Given the description of an element on the screen output the (x, y) to click on. 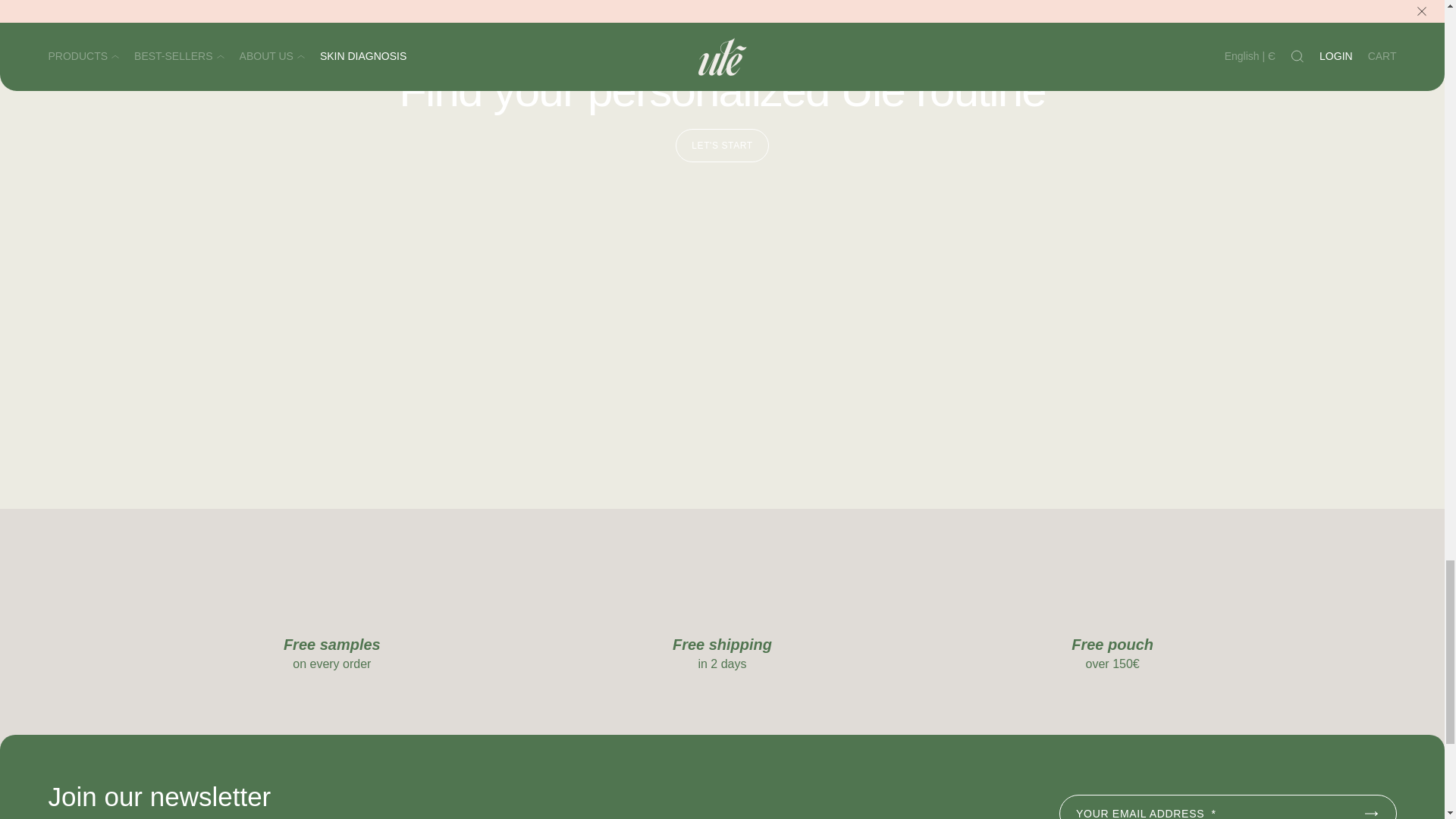
LET'S START (721, 145)
